Given the description of an element on the screen output the (x, y) to click on. 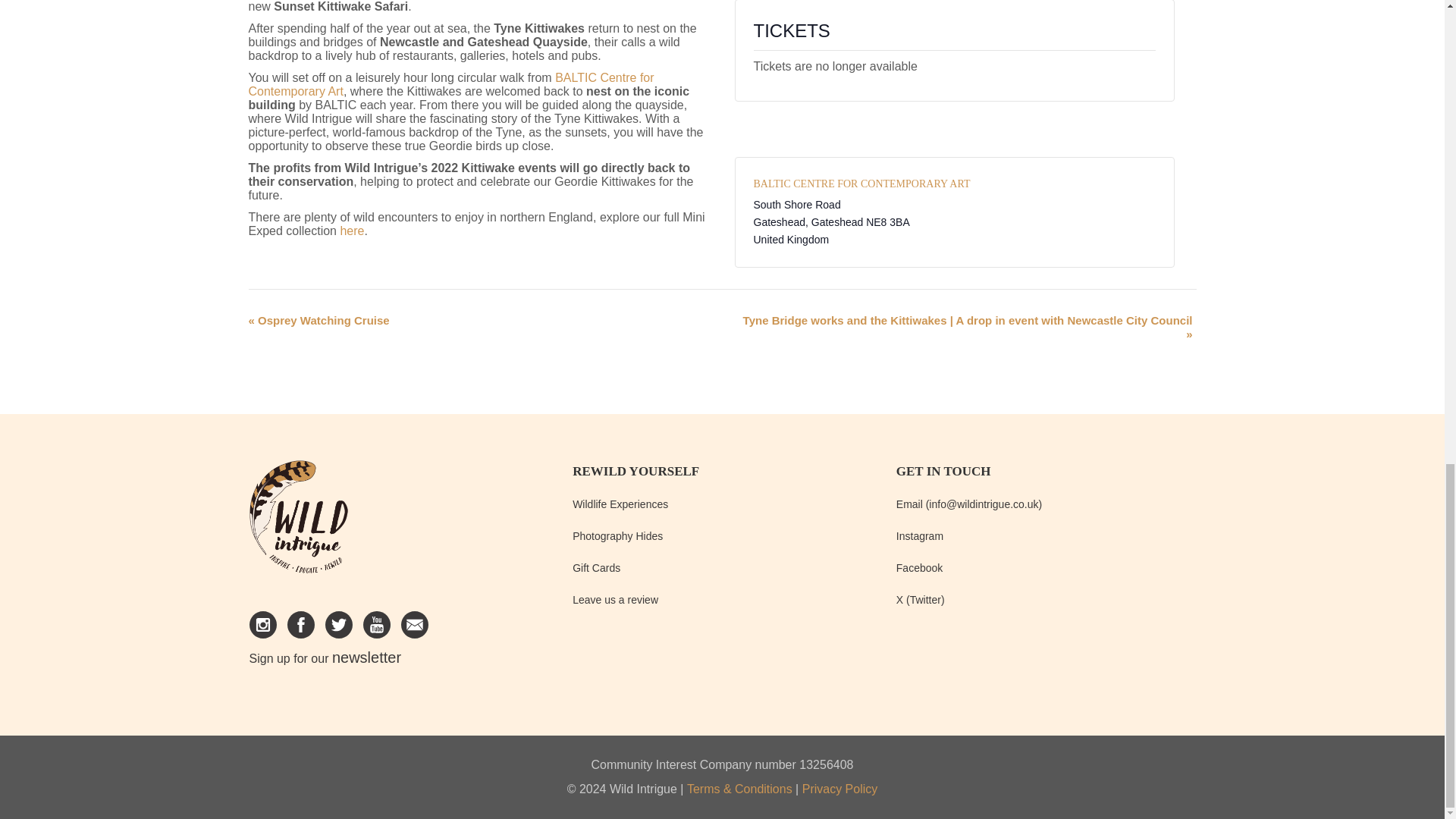
here (351, 230)
BALTIC CENTRE FOR CONTEMPORARY ART (862, 183)
home (297, 522)
Gateshead (836, 222)
BALTIC Centre for Contemporary Art (450, 84)
BALTIC Centre for Contemporary Art (862, 183)
